Given the description of an element on the screen output the (x, y) to click on. 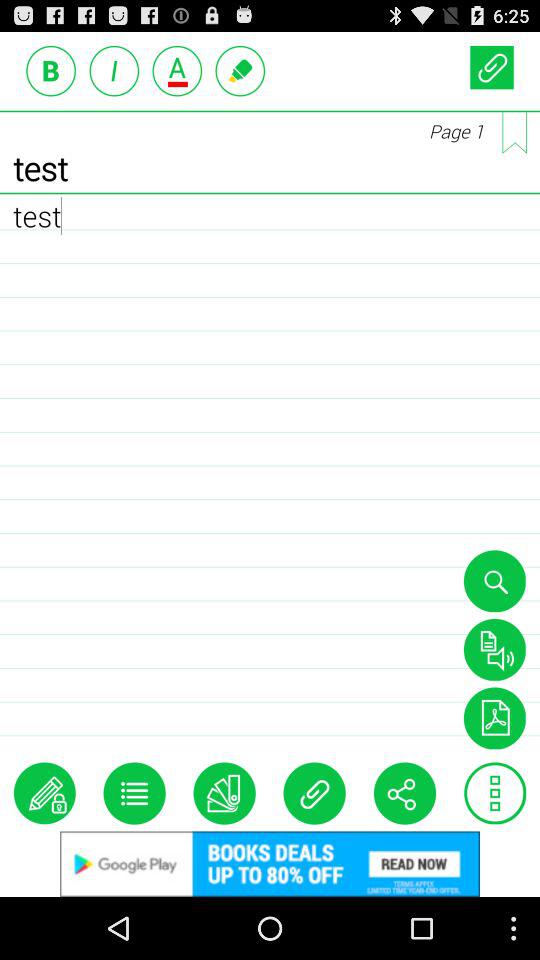
edit (240, 70)
